Given the description of an element on the screen output the (x, y) to click on. 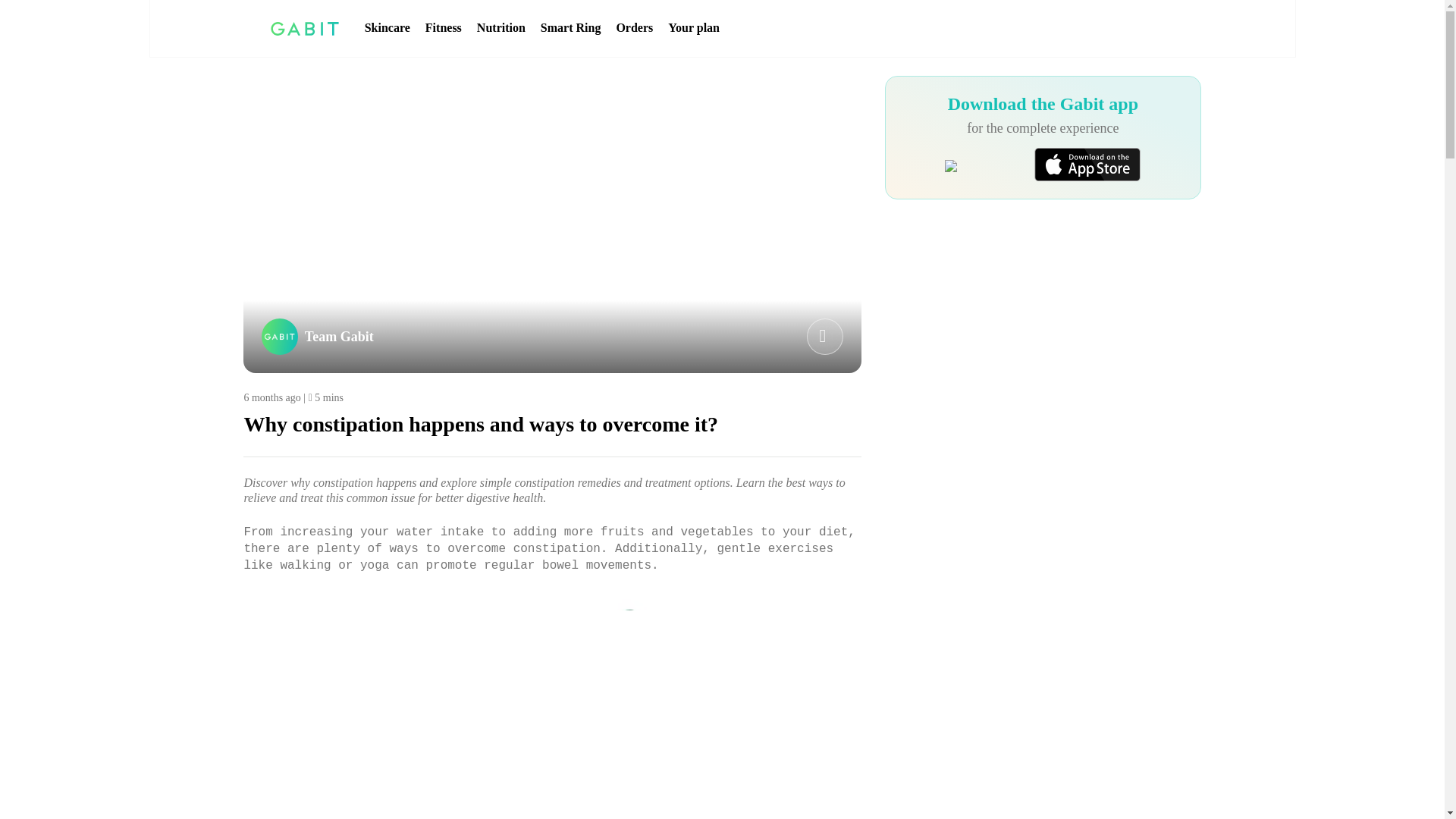
Smart Ring (570, 27)
Skincare (387, 27)
Nutrition (501, 27)
Fitness (443, 27)
Orders (633, 27)
Your plan (693, 27)
